Given the description of an element on the screen output the (x, y) to click on. 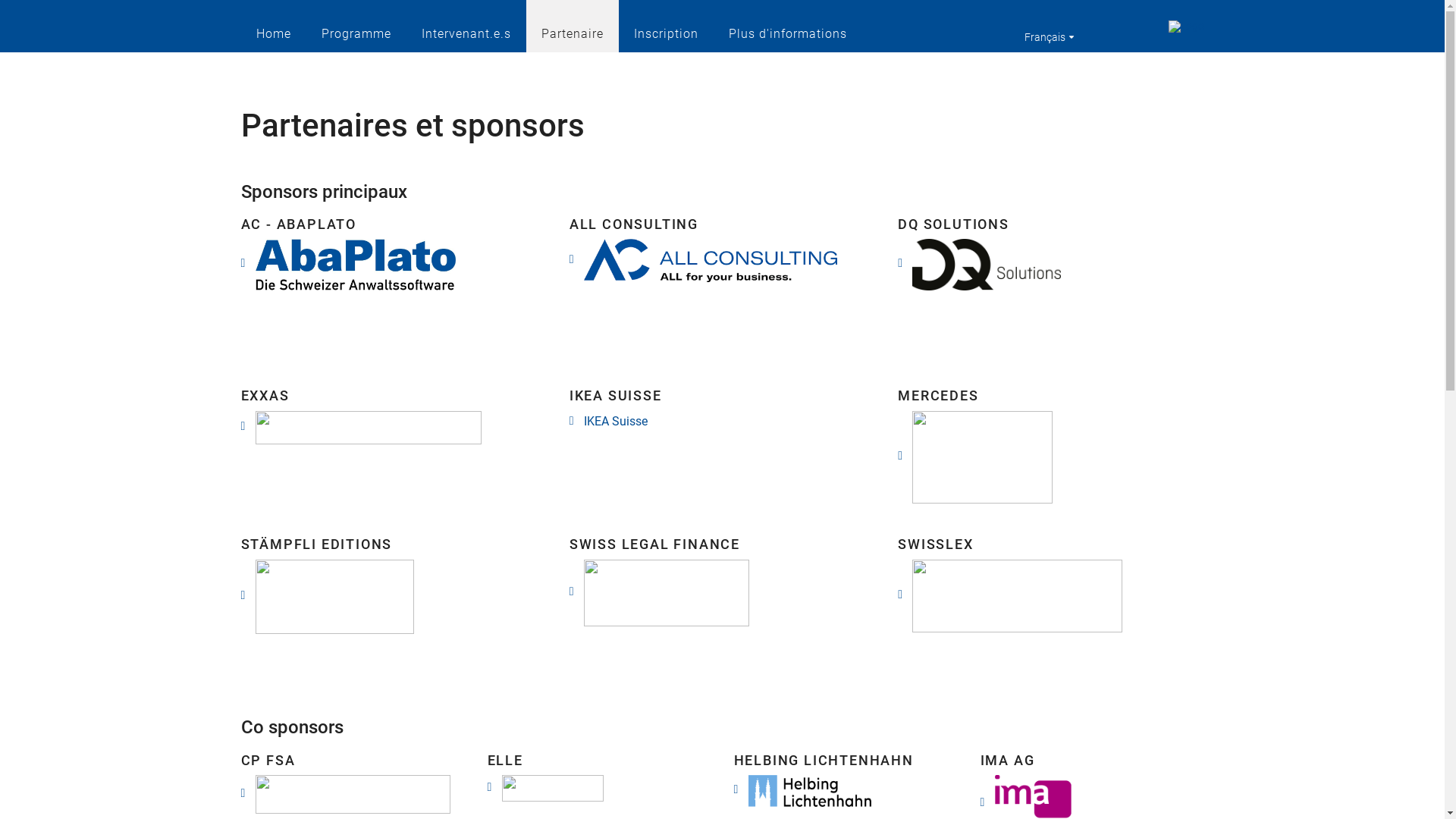
Plus d'informations Element type: text (786, 26)
Programme Element type: text (356, 26)
Home Element type: text (273, 26)
Intervenant.e.s Element type: text (466, 26)
Anwaltskongress Element type: hover (1147, 25)
Inscription Element type: text (665, 26)
IKEA Suisse Element type: text (608, 421)
Partenaire Element type: text (572, 26)
